Given the description of an element on the screen output the (x, y) to click on. 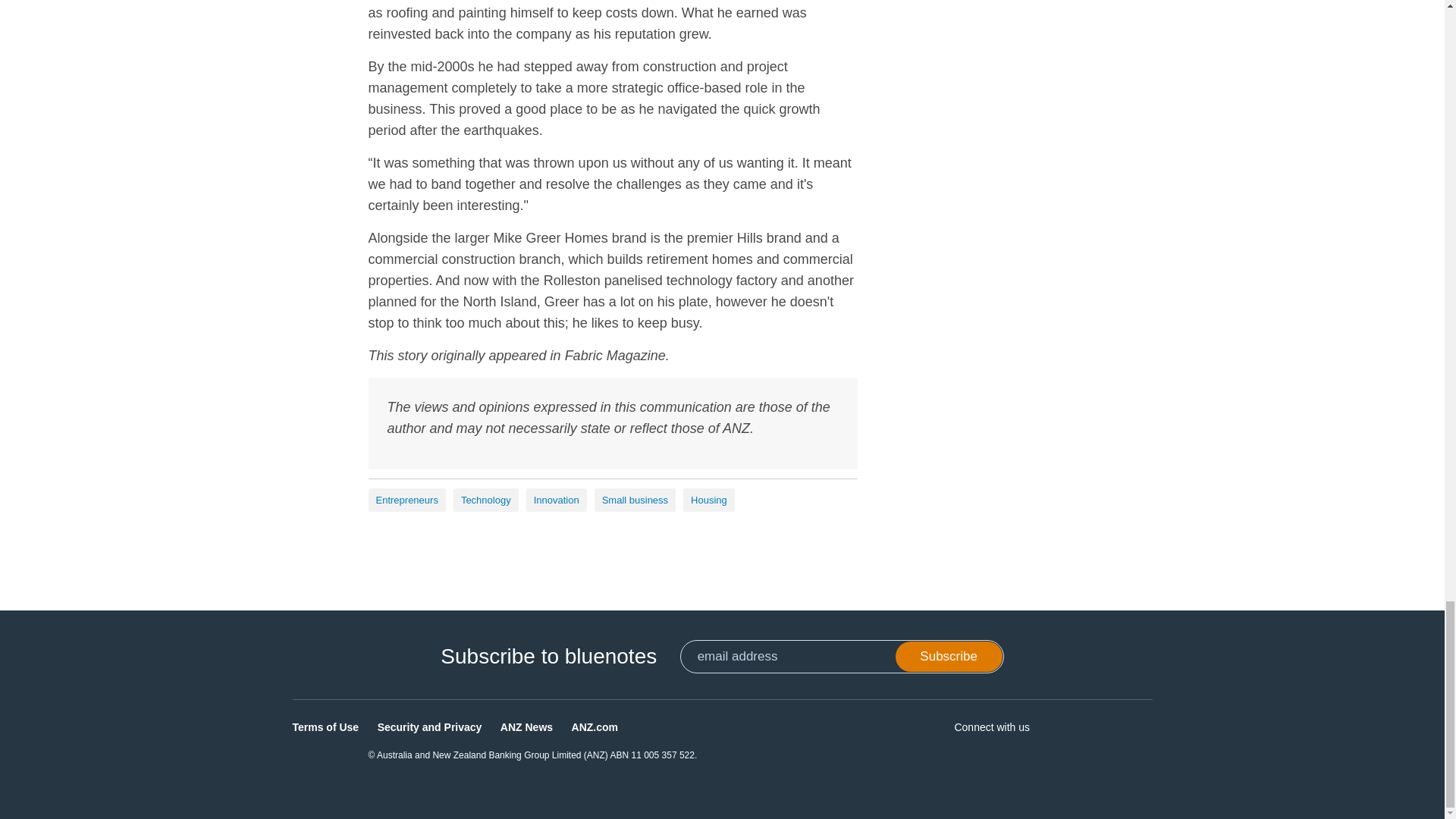
Housing (708, 499)
Technology (485, 499)
Security and Privacy (429, 727)
Innovation (555, 499)
Entrepreneurs (406, 499)
Terms of Use (325, 727)
Small business (634, 499)
